Given the description of an element on the screen output the (x, y) to click on. 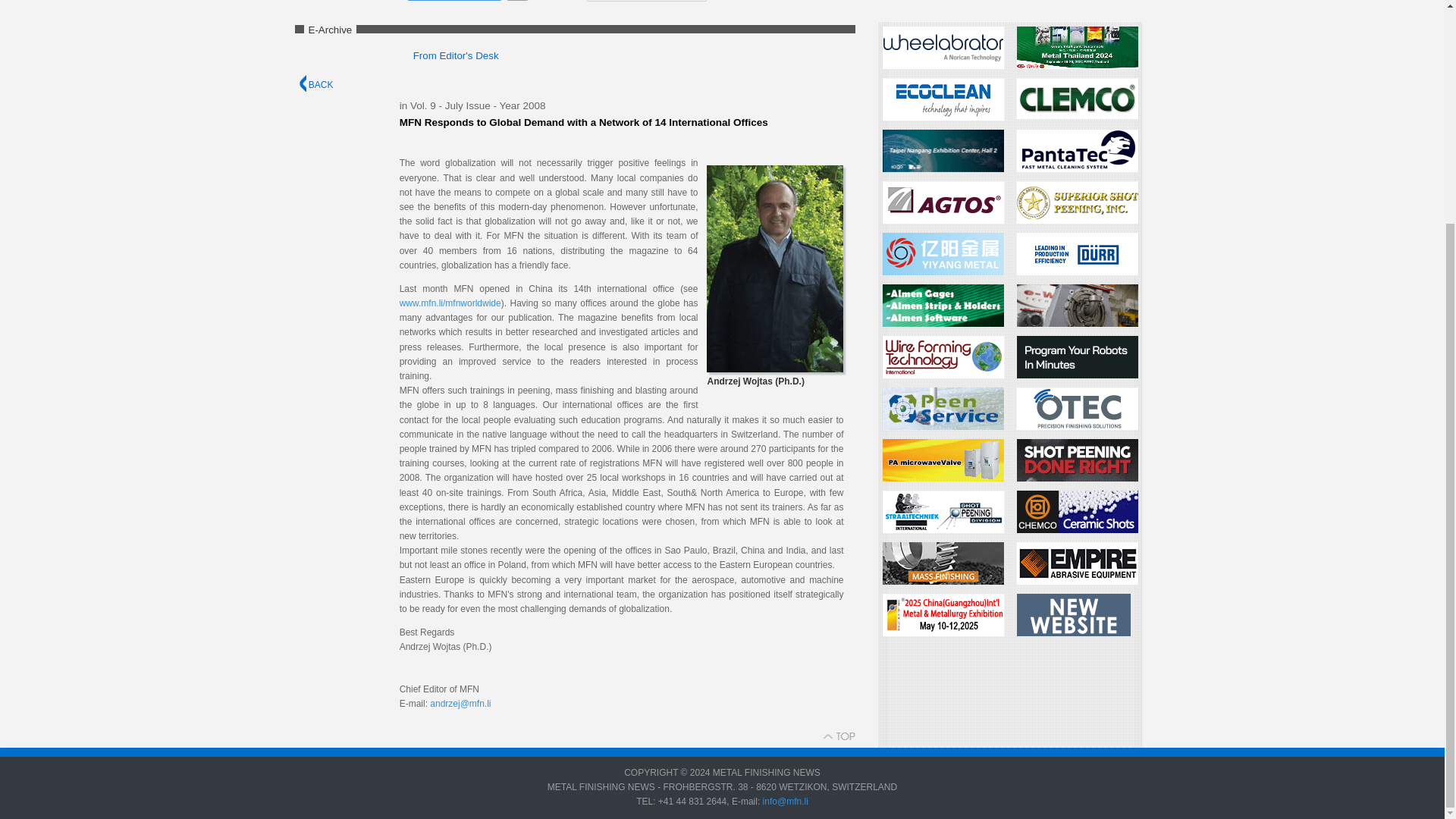
BACK (315, 84)
